Given the description of an element on the screen output the (x, y) to click on. 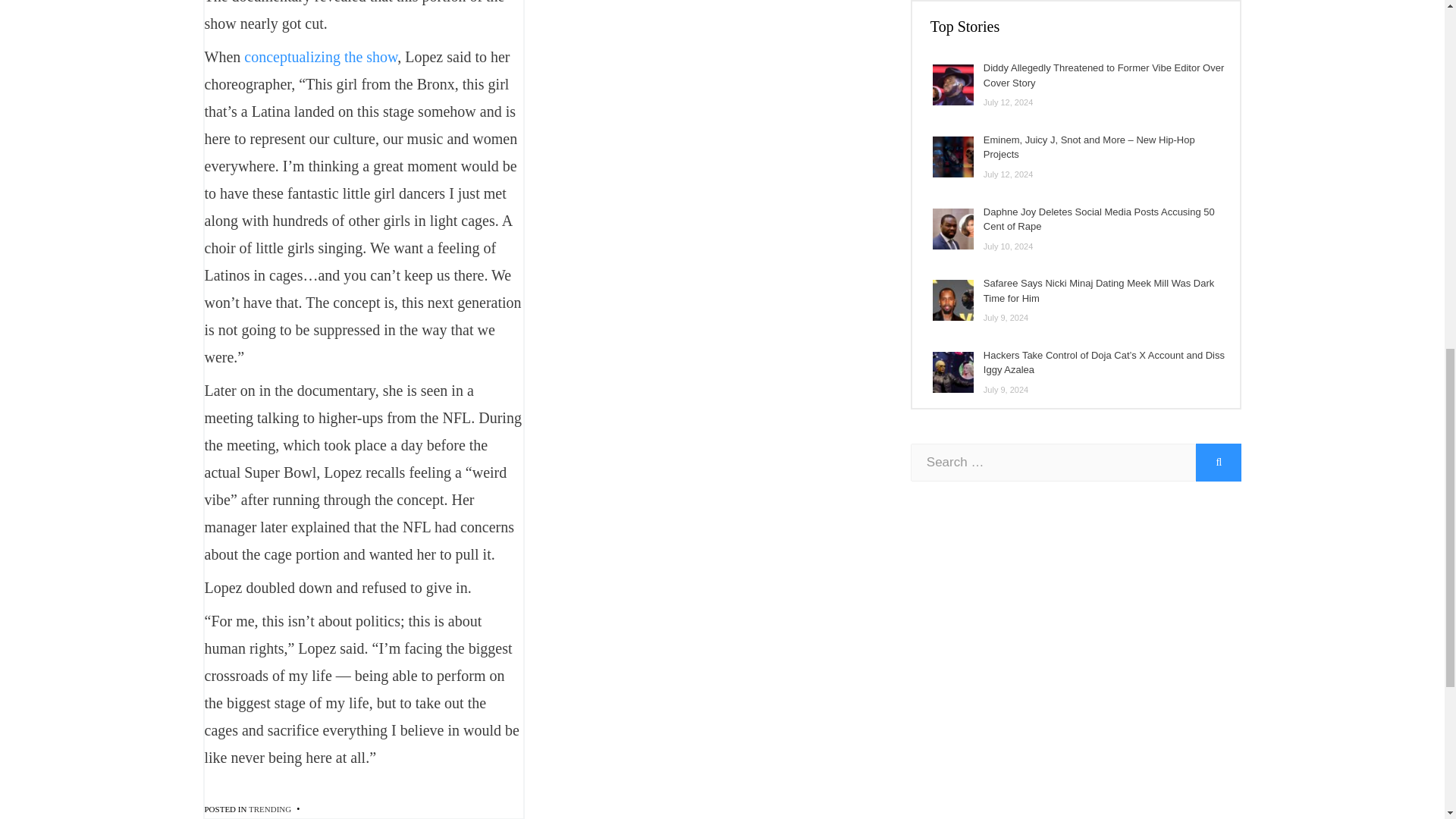
conceptualizing the show (320, 56)
TRENDING (269, 809)
